Given the description of an element on the screen output the (x, y) to click on. 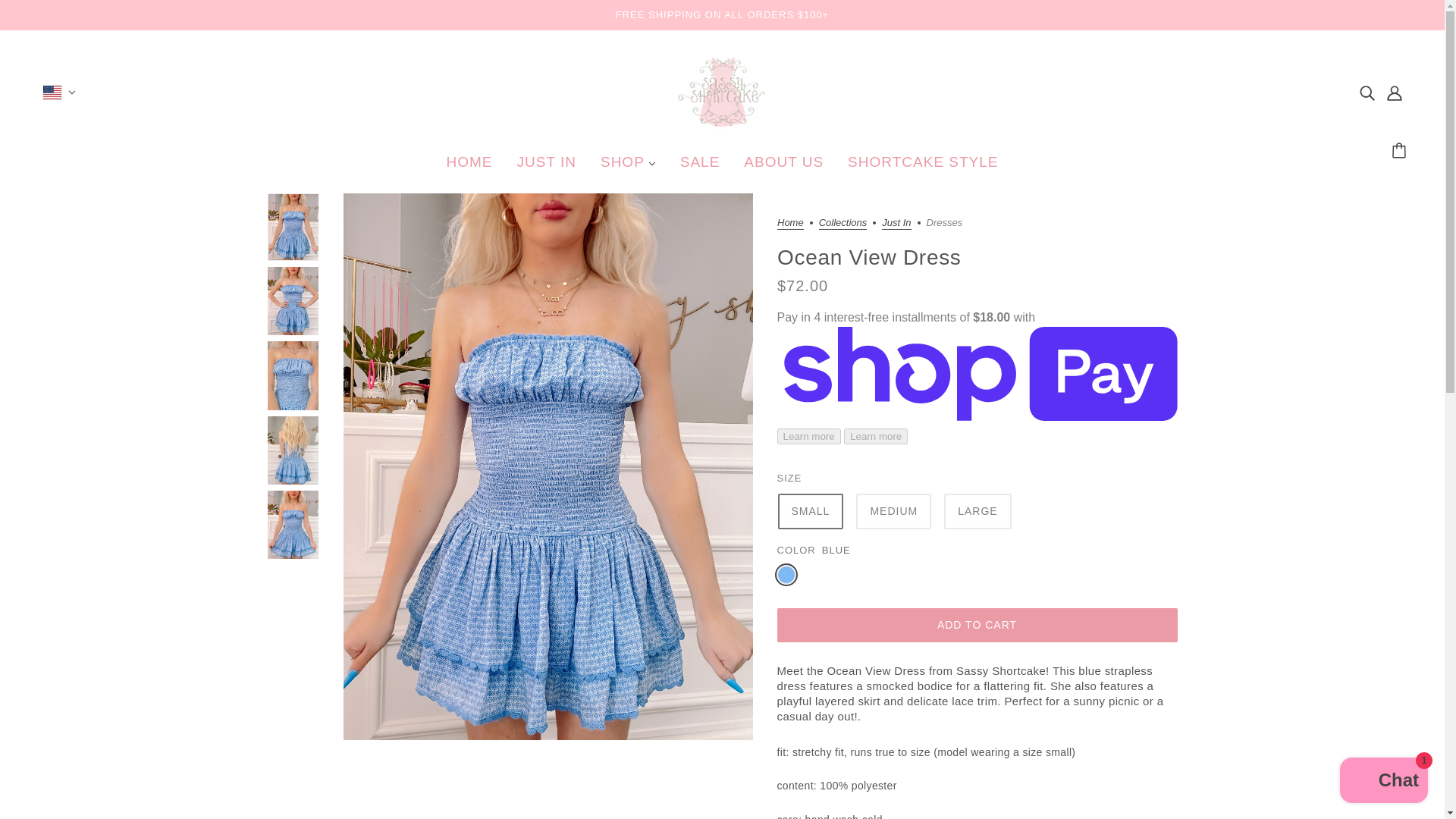
SHOP  (628, 167)
Collections (842, 223)
SALE (700, 167)
Home (789, 223)
HOME (469, 167)
JUST IN (546, 167)
SHORTCAKE STYLE (922, 167)
Shopify online store chat (1383, 781)
Just In (896, 223)
ADD TO CART (976, 625)
ABOUT US (783, 167)
Sassy Shortcake  (721, 124)
